Given the description of an element on the screen output the (x, y) to click on. 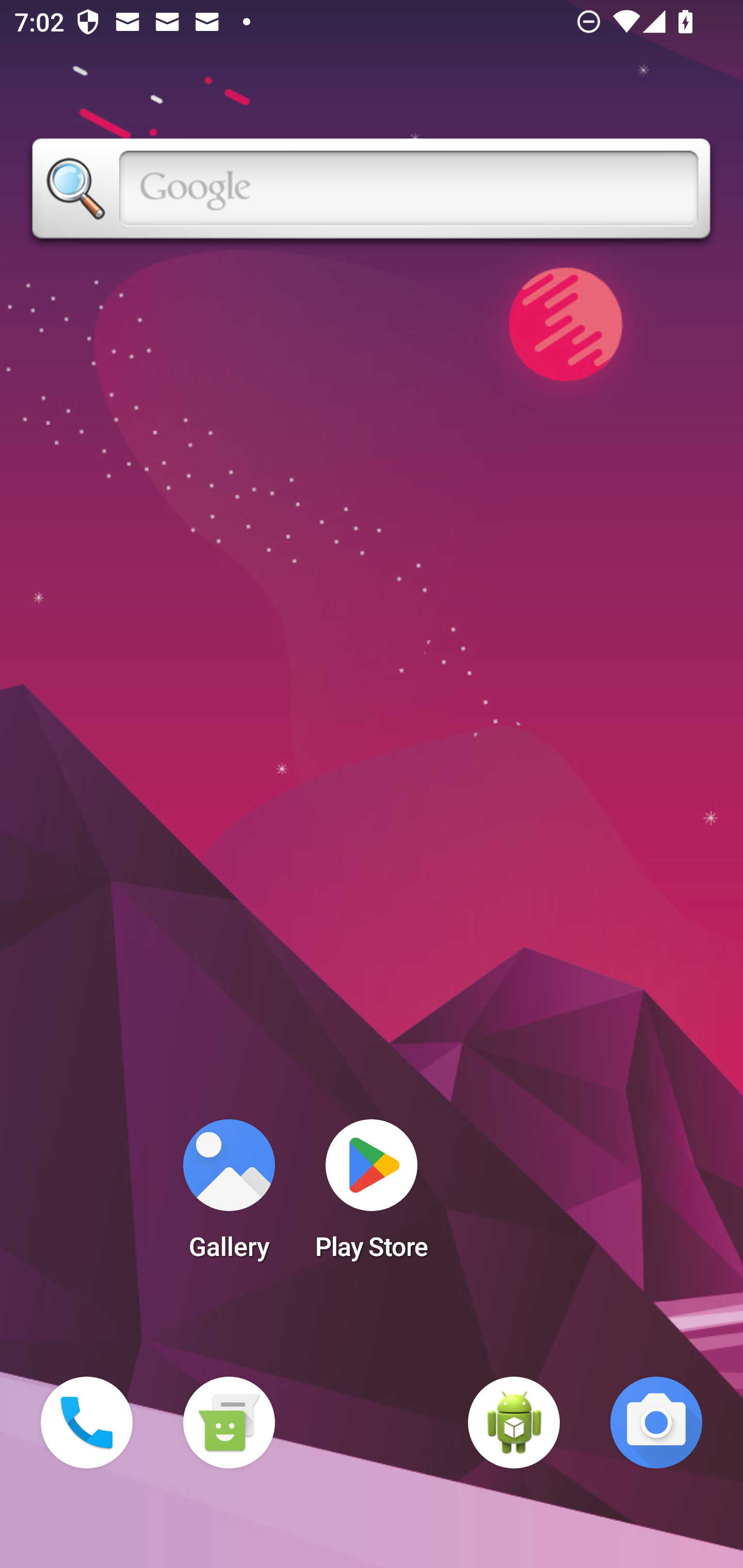
Gallery (228, 1195)
Play Store (371, 1195)
Phone (86, 1422)
Messaging (228, 1422)
WebView Browser Tester (513, 1422)
Camera (656, 1422)
